Given the description of an element on the screen output the (x, y) to click on. 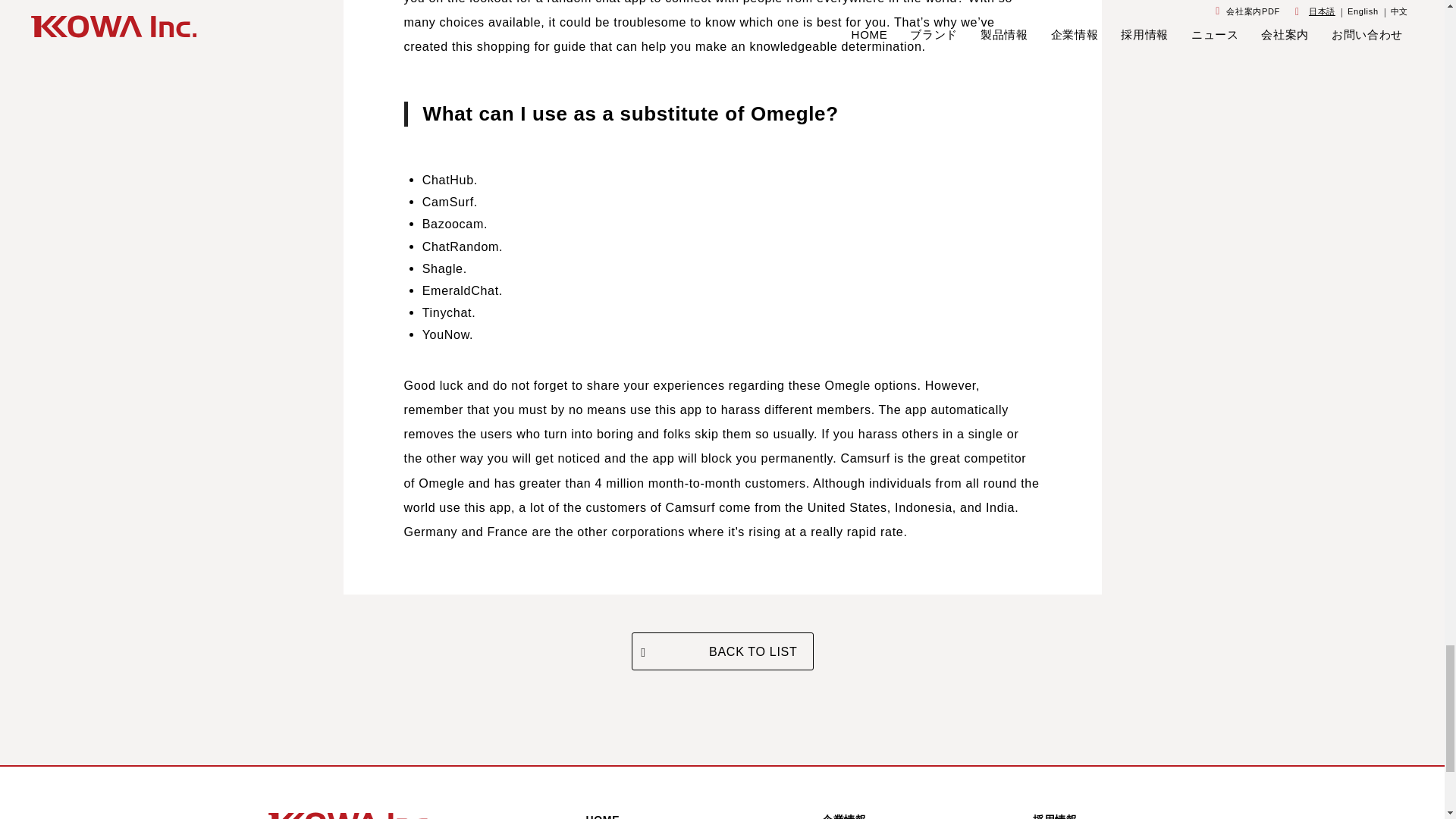
BACK TO LIST (721, 651)
HOME (602, 816)
